Given the description of an element on the screen output the (x, y) to click on. 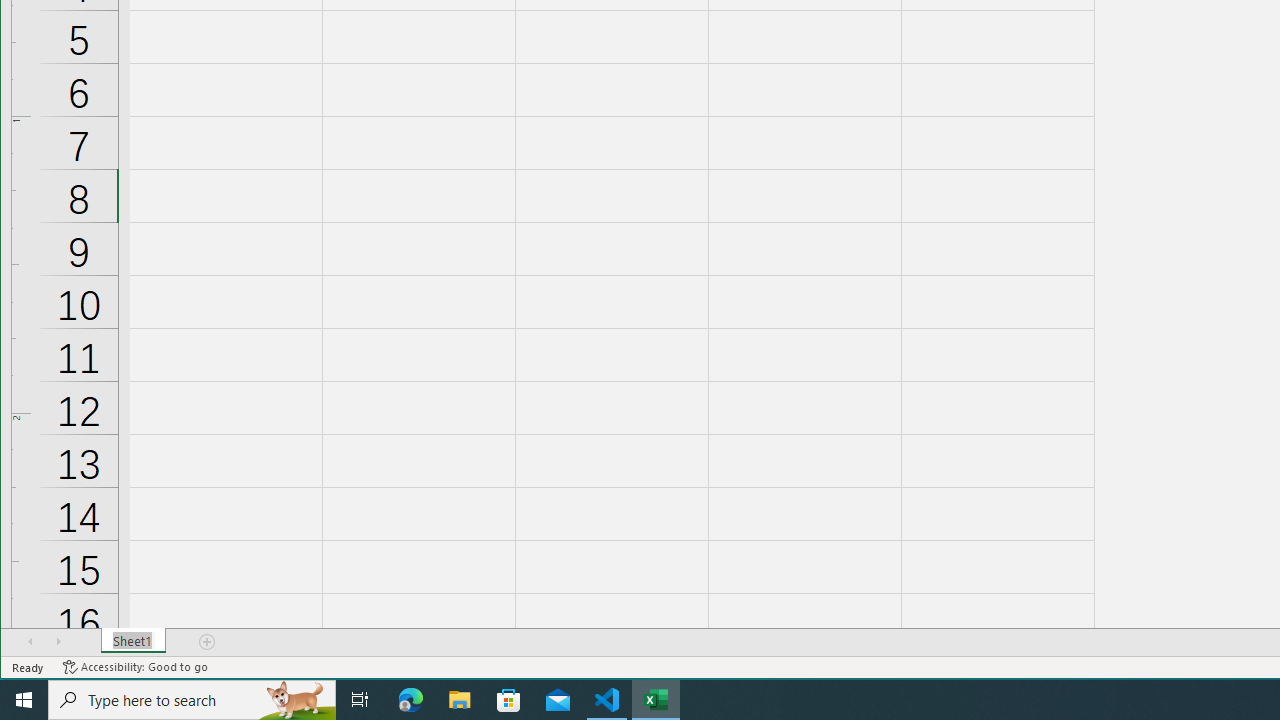
Type here to search (191, 699)
Sheet Tab (133, 641)
Task View (359, 699)
Visual Studio Code - 1 running window (607, 699)
Excel - 1 running window (656, 699)
Search highlights icon opens search home window (295, 699)
Microsoft Store (509, 699)
Microsoft Edge (411, 699)
Start (24, 699)
